Given the description of an element on the screen output the (x, y) to click on. 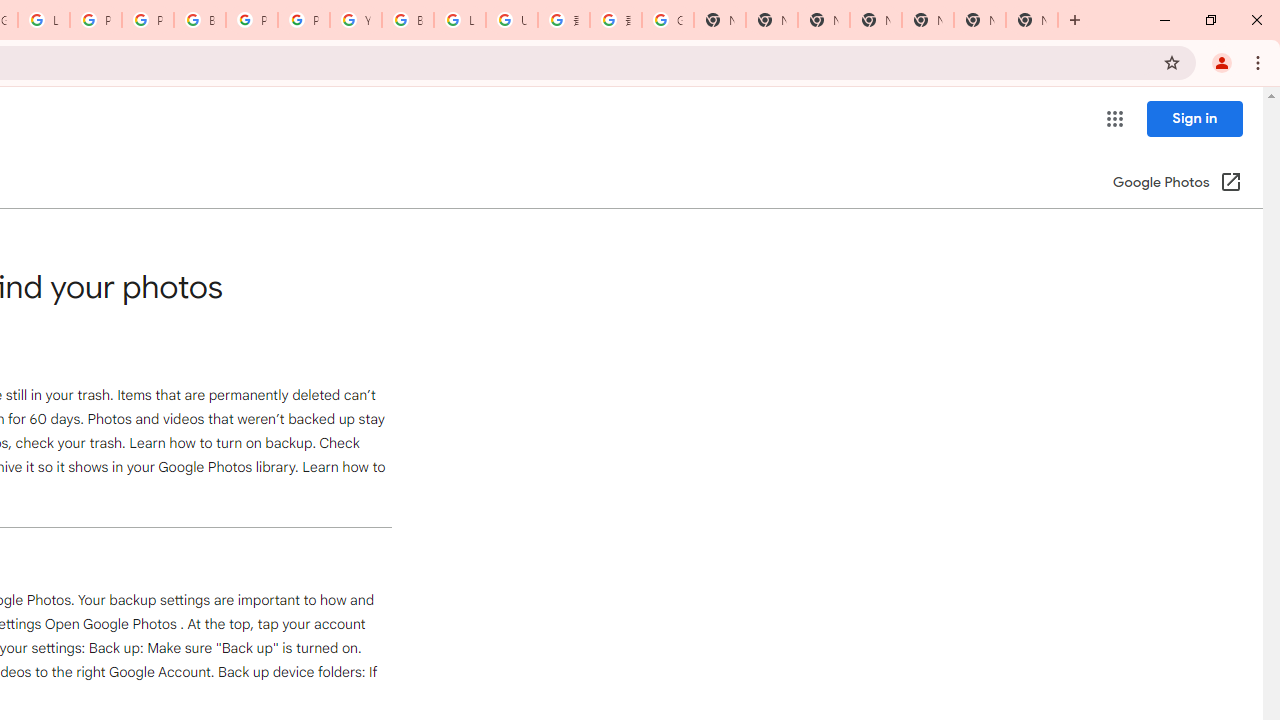
YouTube (355, 20)
